Given the description of an element on the screen output the (x, y) to click on. 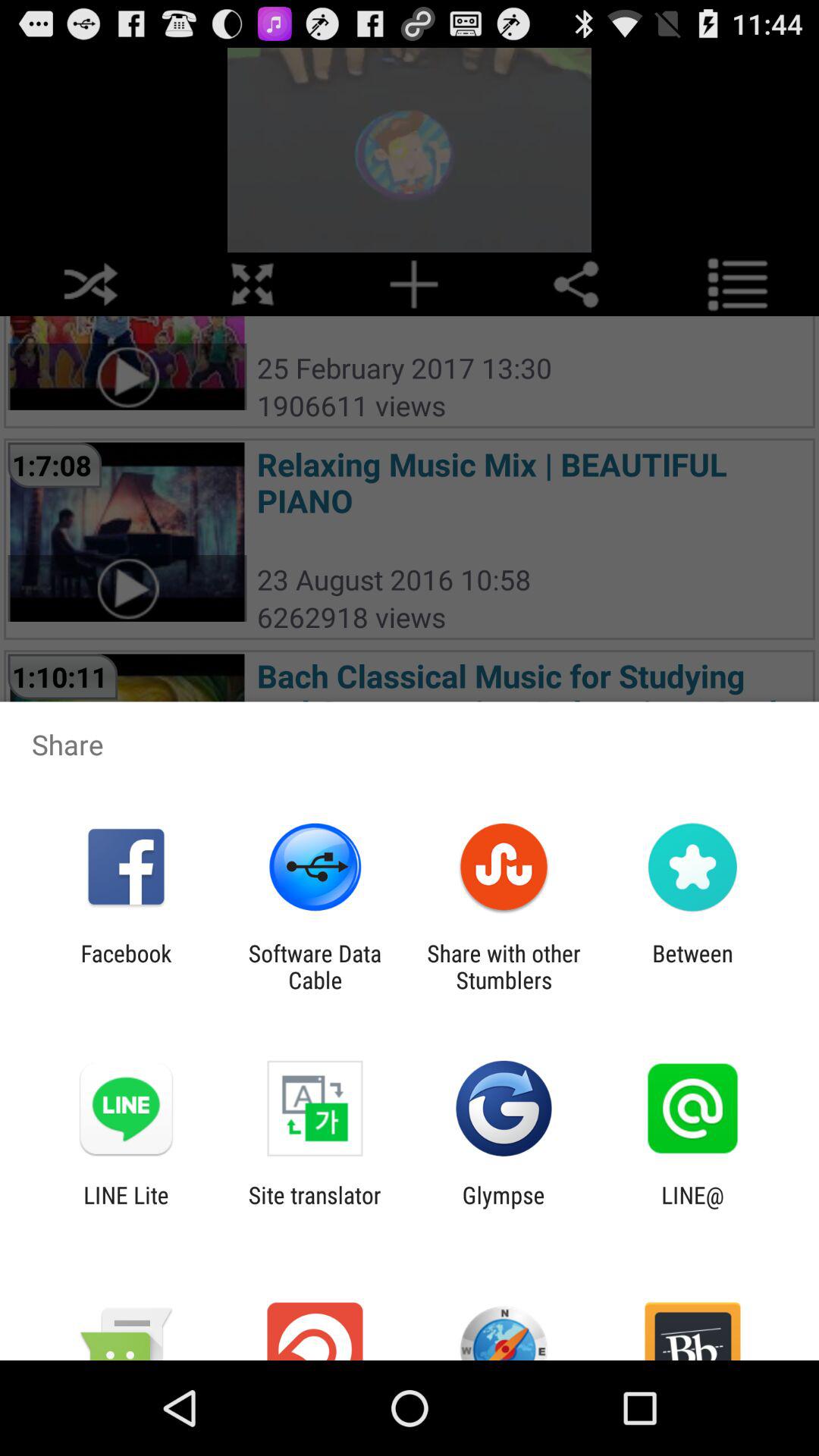
turn off the icon to the right of line lite icon (314, 1208)
